Given the description of an element on the screen output the (x, y) to click on. 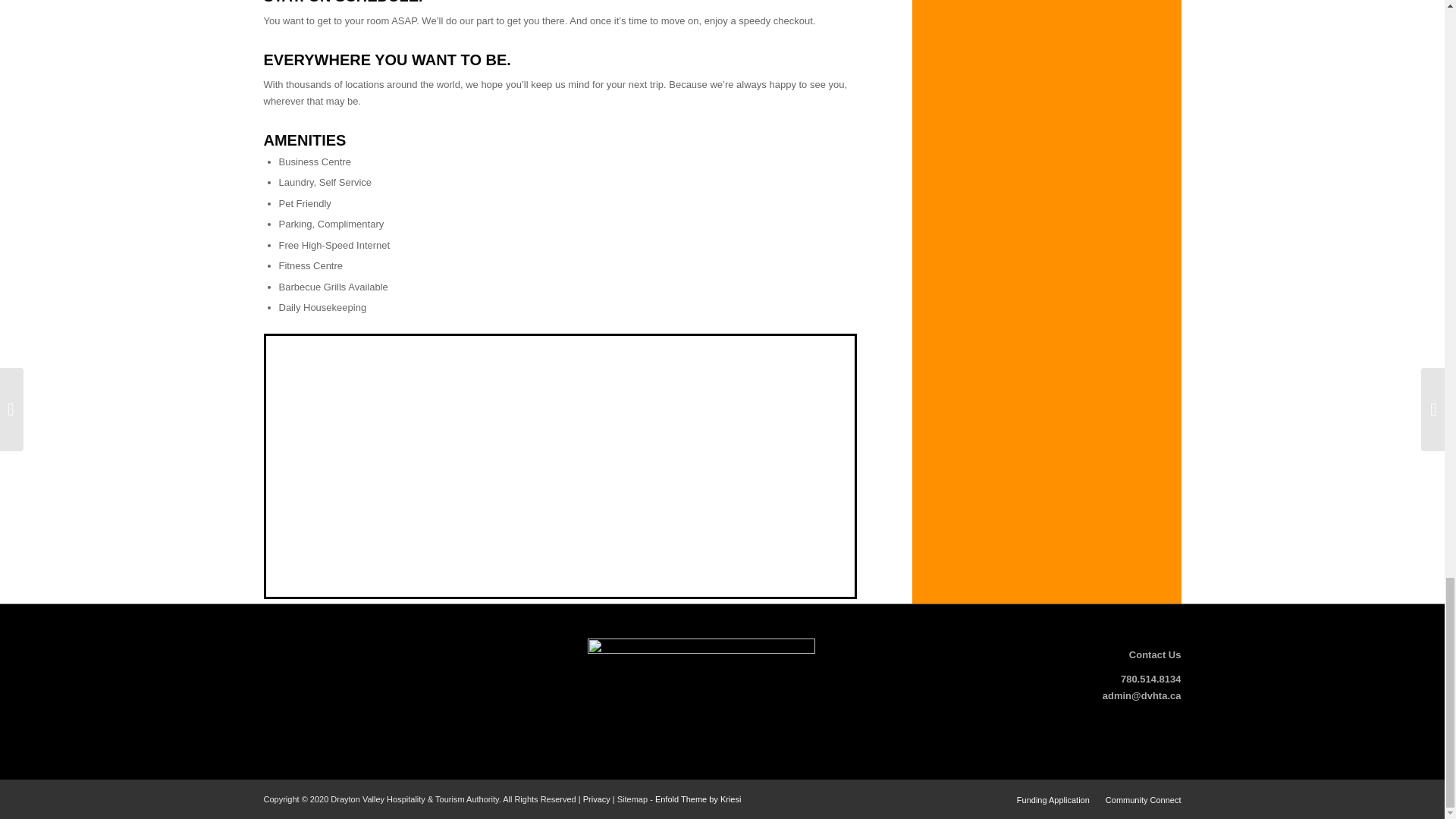
Funding Application (1052, 799)
Enfold Theme by Kriesi (698, 798)
Privacy (596, 798)
Community Connect (1142, 799)
